Given the description of an element on the screen output the (x, y) to click on. 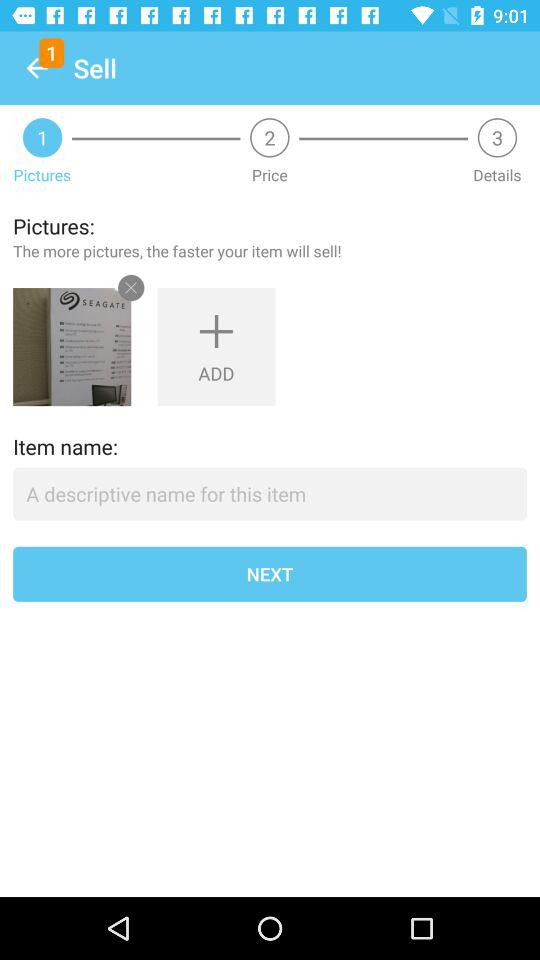
turn on the item above item name: icon (72, 347)
